Given the description of an element on the screen output the (x, y) to click on. 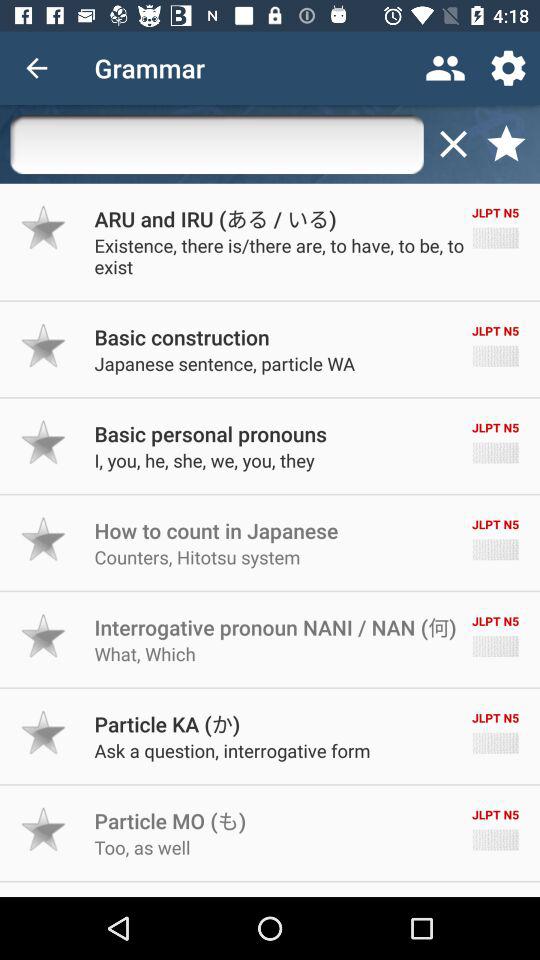
toggle favorite particle mo (44, 829)
